Given the description of an element on the screen output the (x, y) to click on. 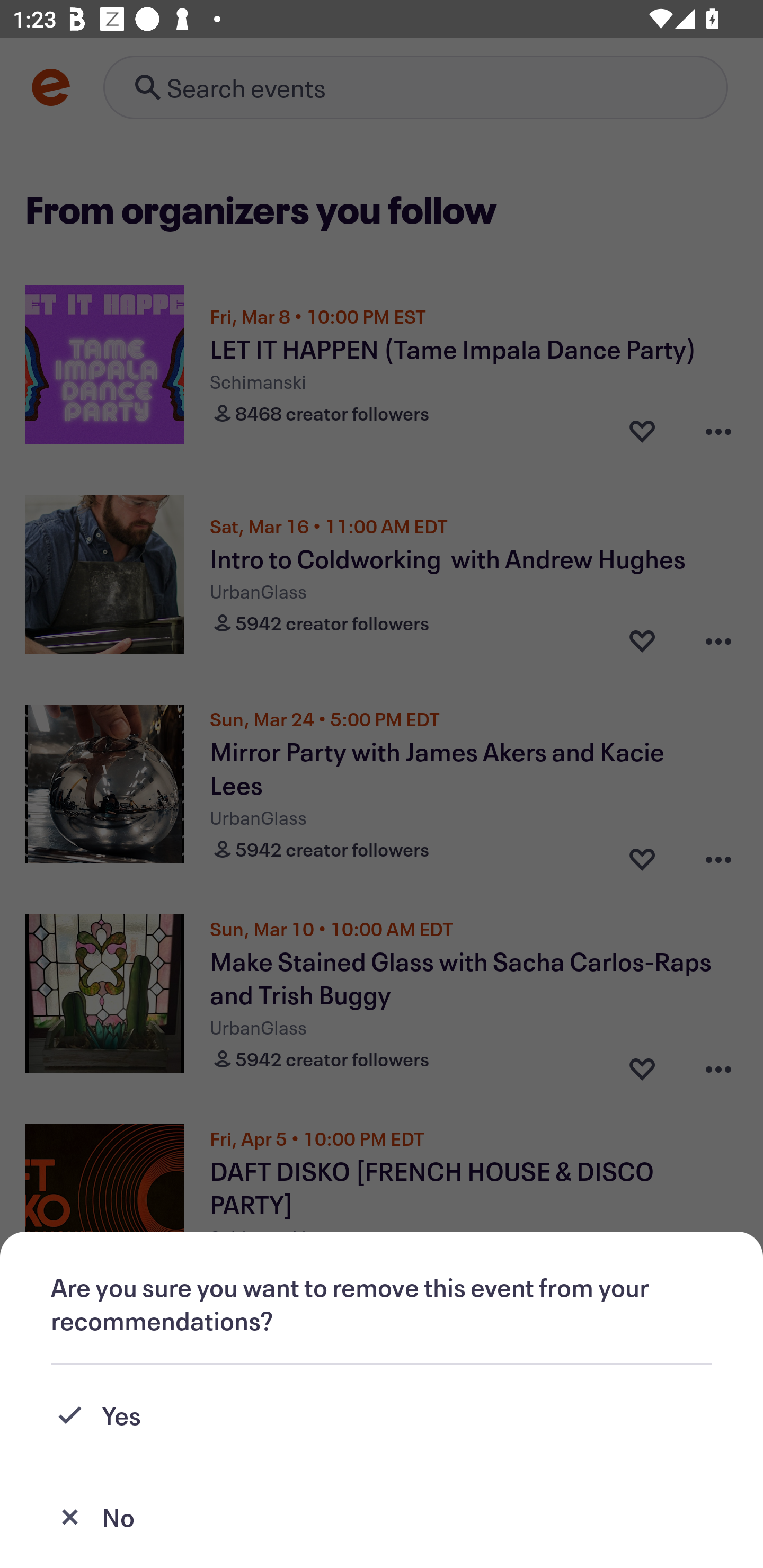
Yes (381, 1415)
No (381, 1517)
